Given the description of an element on the screen output the (x, y) to click on. 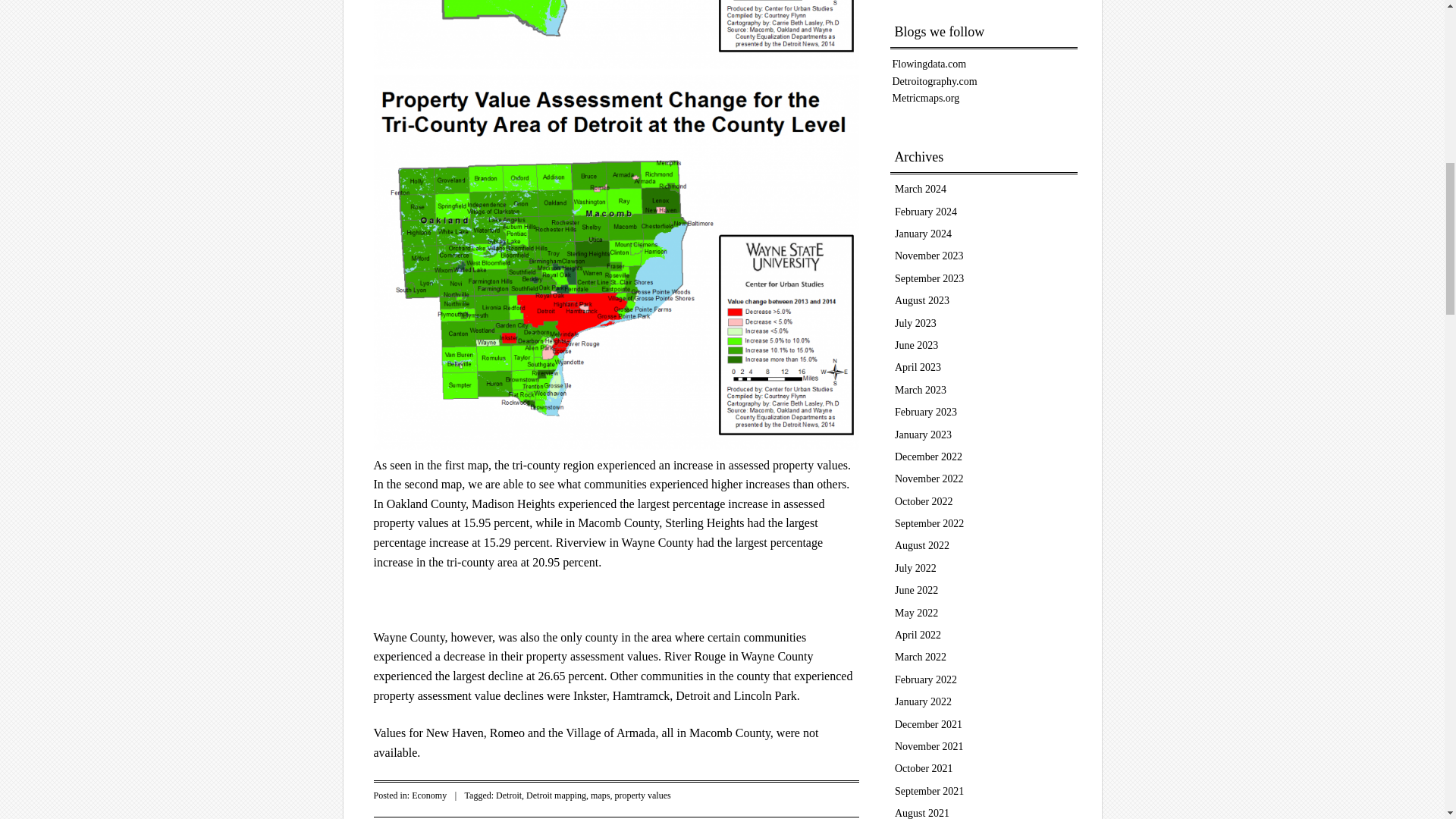
Detroit (508, 795)
August 2023 (922, 300)
property values (641, 795)
September 2023 (929, 278)
Economy (429, 795)
Detroit mapping (555, 795)
maps (600, 795)
November 2023 (929, 255)
March 2024 (920, 188)
February 2024 (925, 211)
